Given the description of an element on the screen output the (x, y) to click on. 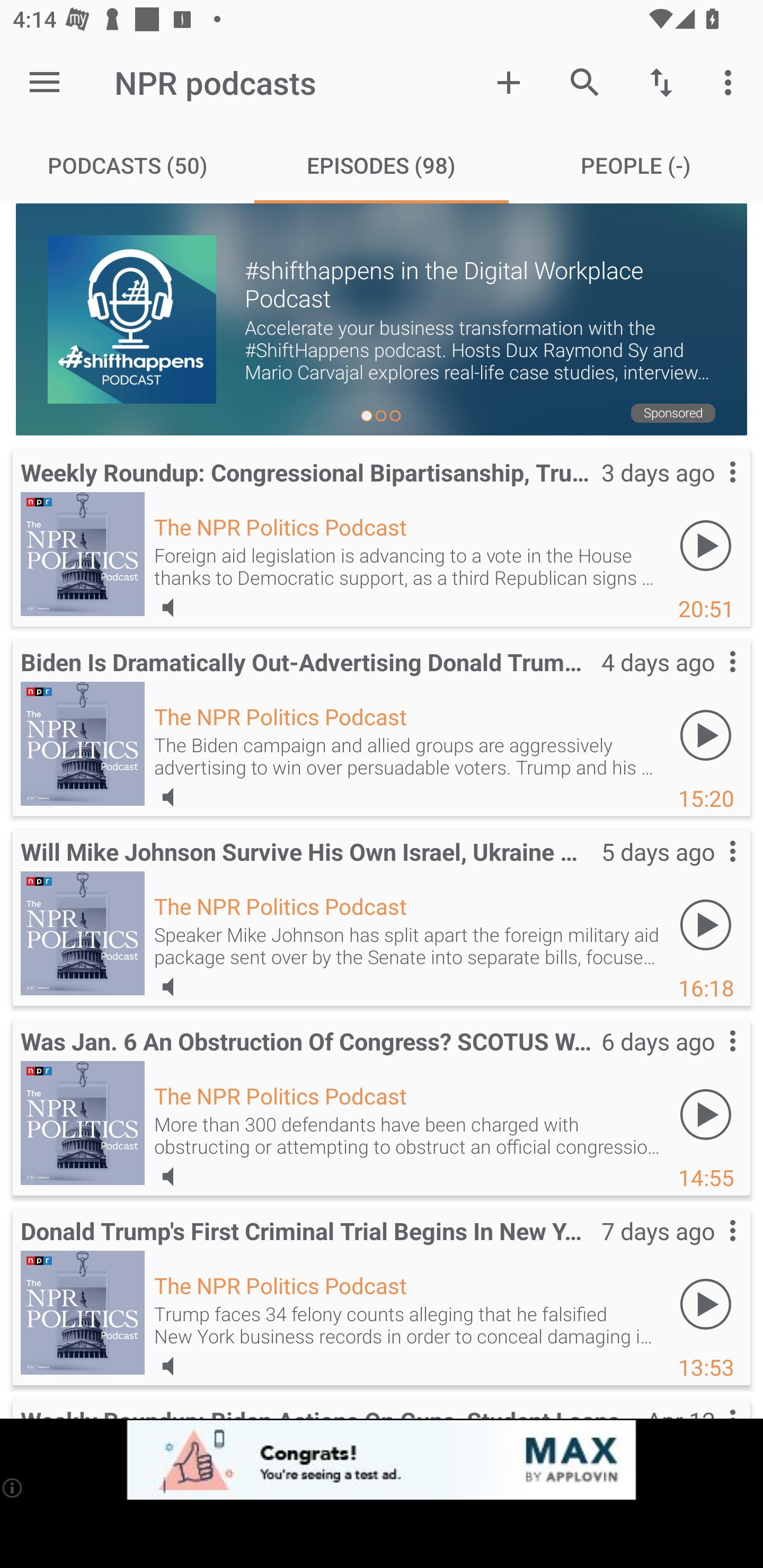
Open navigation sidebar (44, 82)
Create a 'Search Based Podcast' (508, 81)
Search (585, 81)
Sort (661, 81)
More options (731, 81)
Podcasts (50) PODCASTS (50) (127, 165)
People (-) PEOPLE (-) (635, 165)
Contextual menu (712, 489)
Play (705, 545)
Contextual menu (712, 679)
Play (705, 735)
Contextual menu (712, 869)
Play (705, 924)
Contextual menu (712, 1059)
Play (705, 1113)
Contextual menu (712, 1248)
Play (705, 1303)
app-monetization (381, 1459)
(i) (11, 1487)
